Given the description of an element on the screen output the (x, y) to click on. 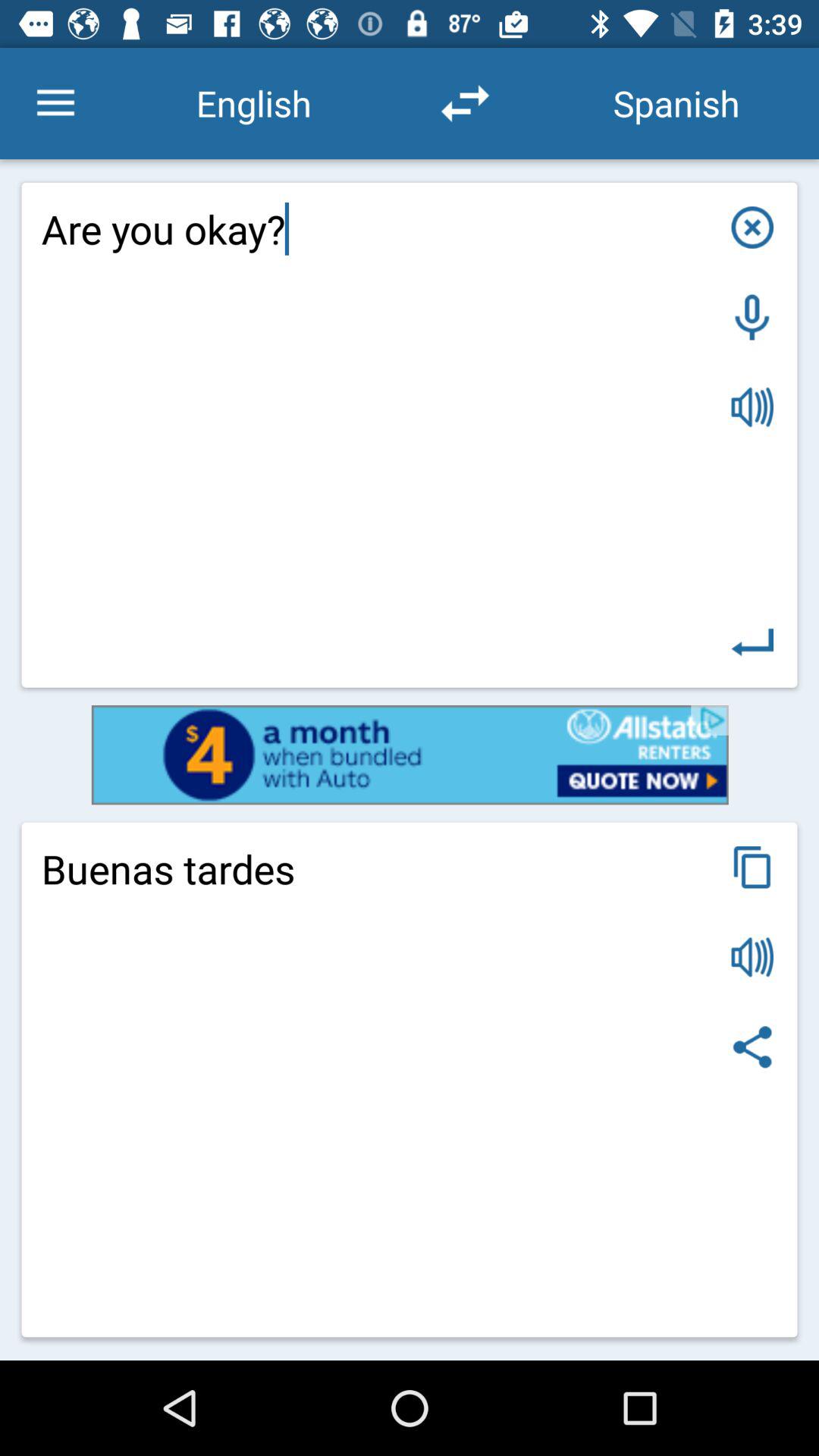
sound (752, 957)
